Given the description of an element on the screen output the (x, y) to click on. 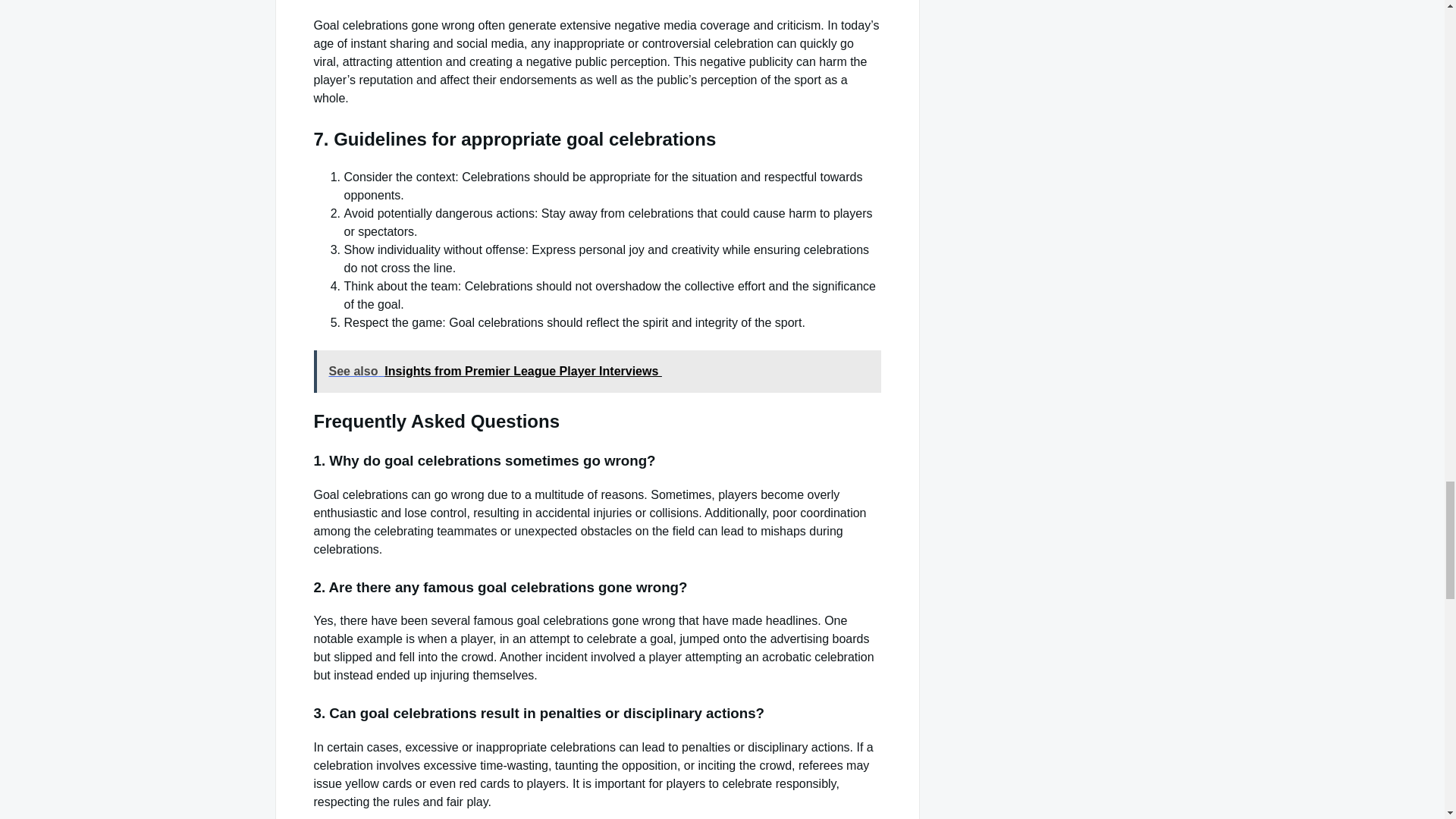
See also  Insights from Premier League Player Interviews  (597, 371)
